Given the description of an element on the screen output the (x, y) to click on. 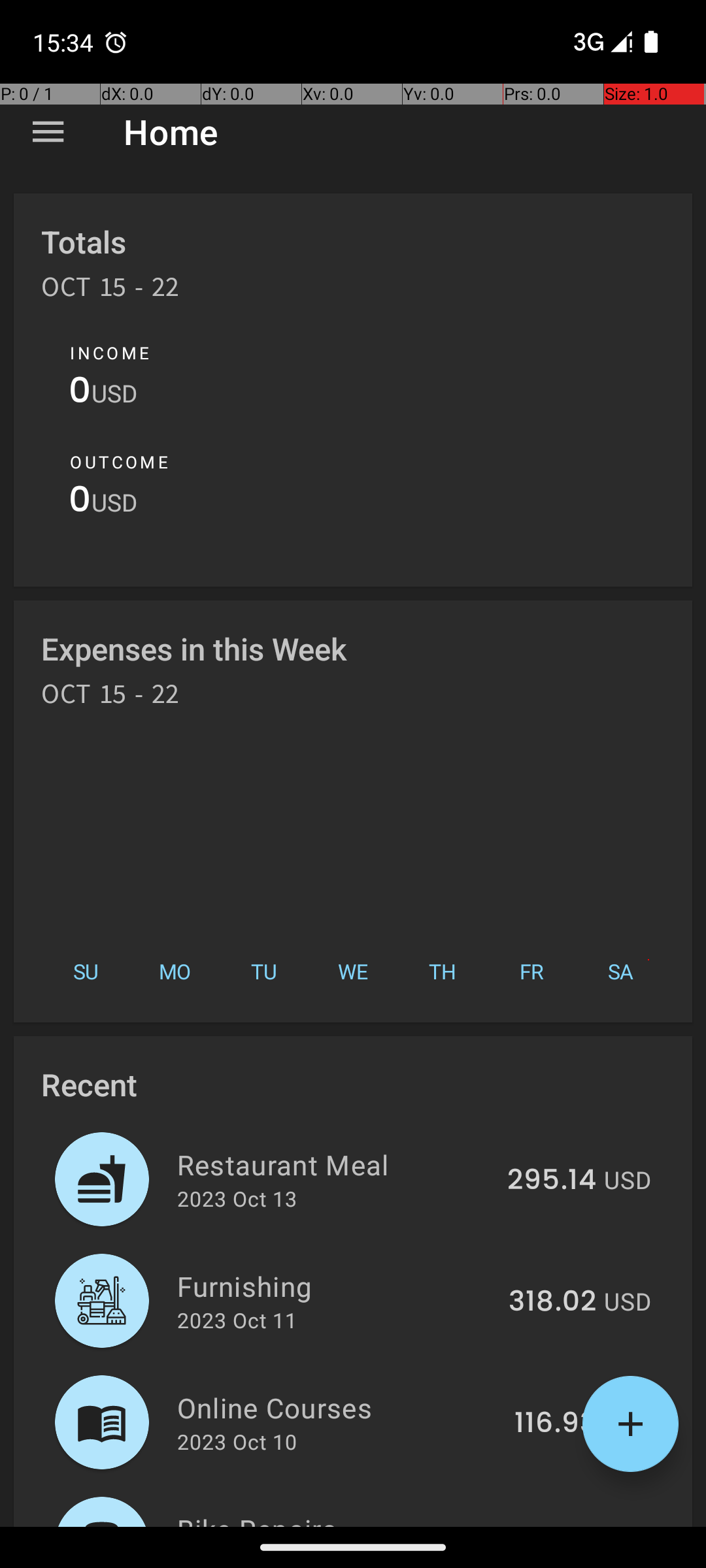
295.14 Element type: android.widget.TextView (551, 1180)
Furnishing Element type: android.widget.TextView (335, 1285)
318.02 Element type: android.widget.TextView (551, 1301)
Online Courses Element type: android.widget.TextView (338, 1407)
116.93 Element type: android.widget.TextView (554, 1423)
463.37 Element type: android.widget.TextView (548, 1524)
